Given the description of an element on the screen output the (x, y) to click on. 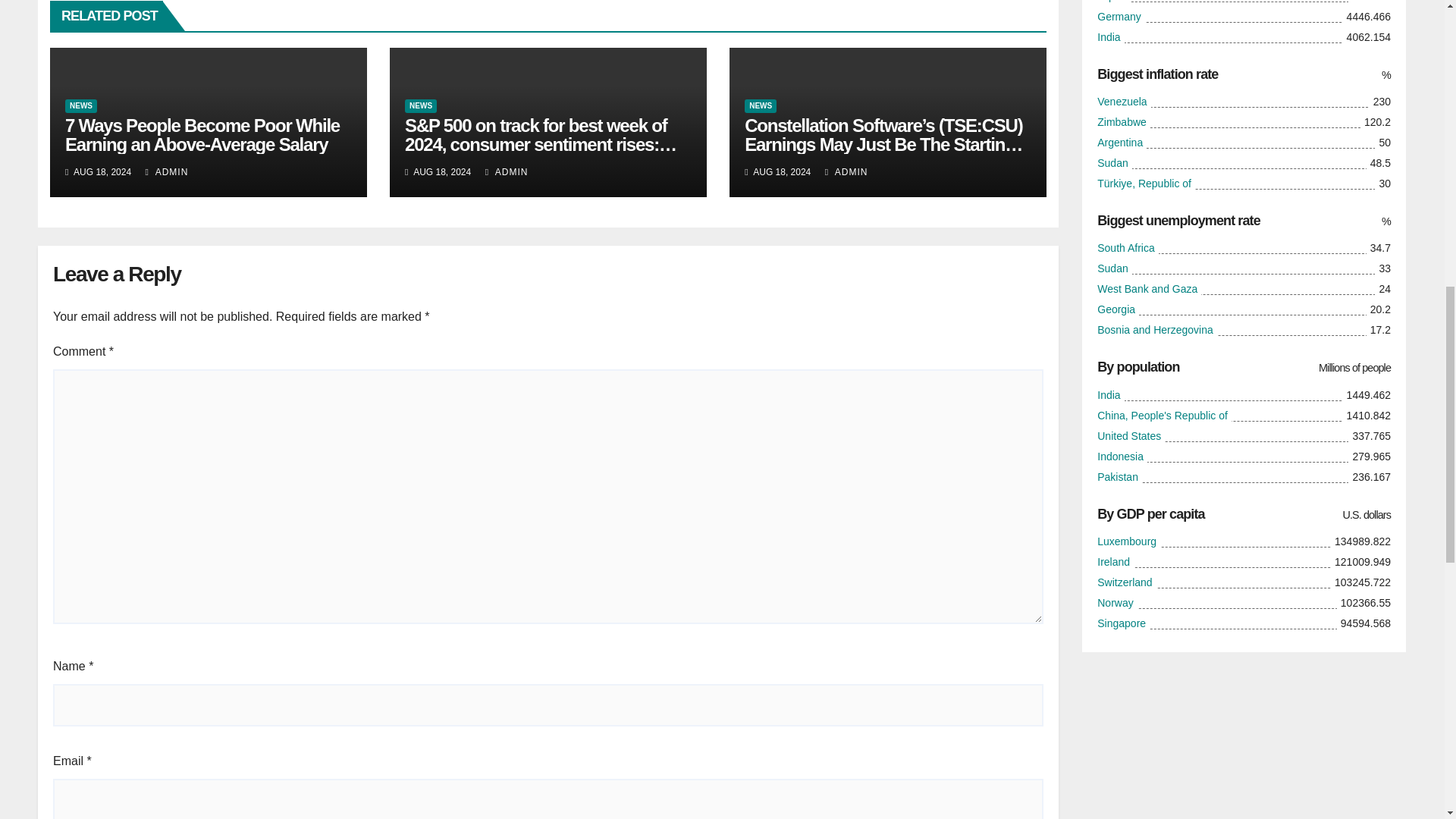
ADMIN (506, 172)
ADMIN (167, 172)
NEWS (760, 106)
NEWS (81, 106)
NEWS (420, 106)
